Given the description of an element on the screen output the (x, y) to click on. 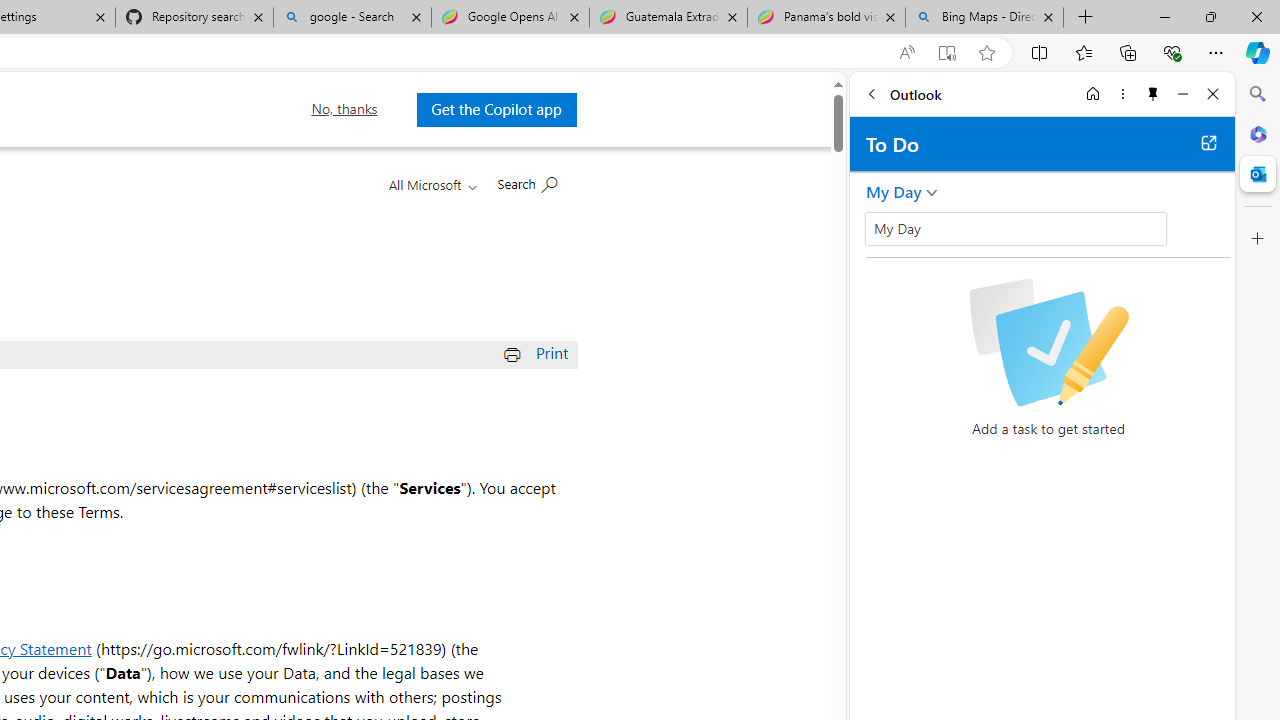
Open in new tab (1208, 142)
No, thanks (344, 109)
Class: wL_Ii70haOUOvHnsRwbD (1016, 228)
Add a task (881, 235)
Checkbox with a pencil (1047, 342)
